Given the description of an element on the screen output the (x, y) to click on. 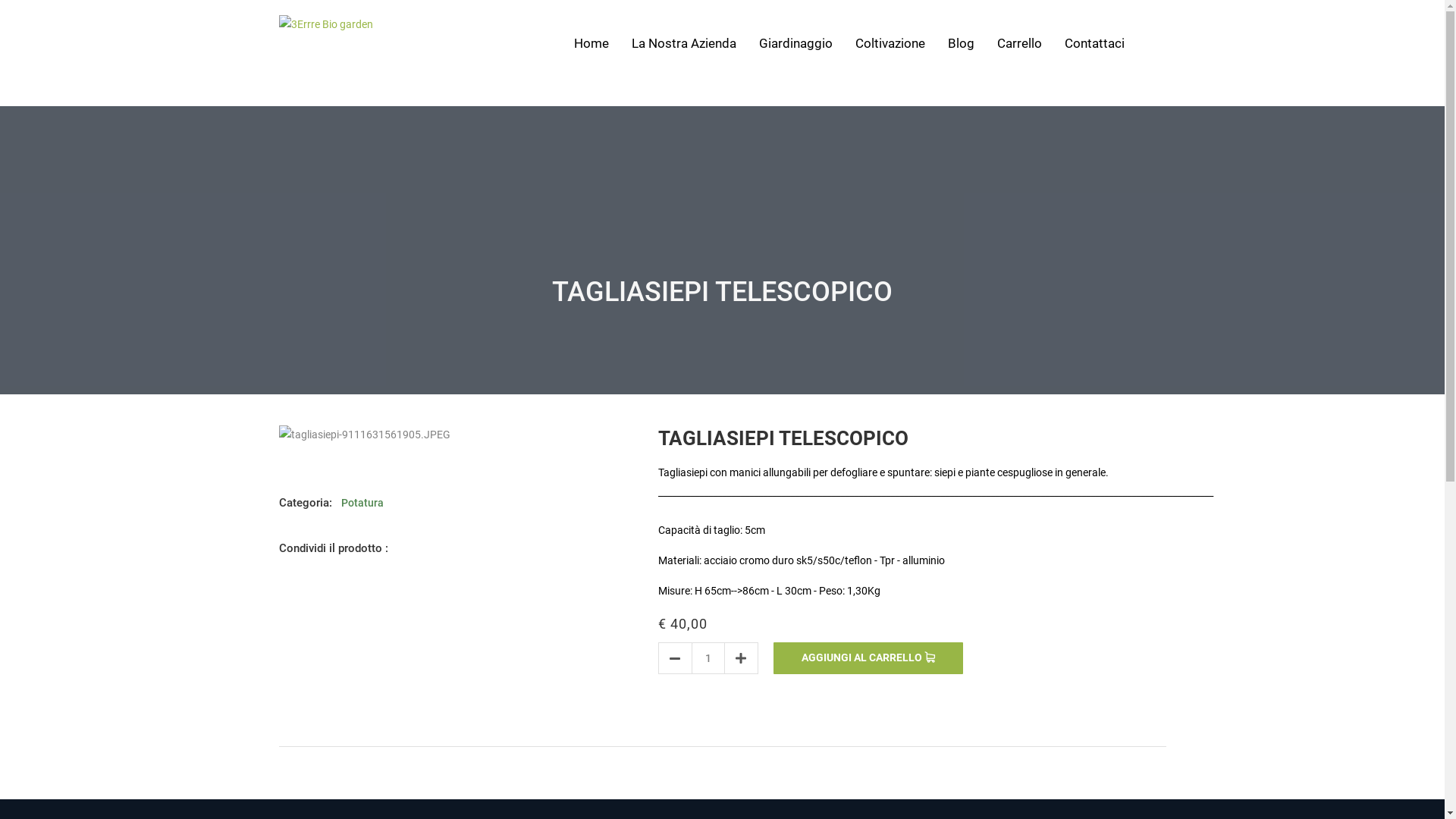
Potatura Element type: text (362, 502)
Carrello Element type: text (1018, 43)
Giardinaggio Element type: text (794, 43)
Coltivazione Element type: text (890, 43)
AGGIUNGI AL CARRELLO Element type: text (868, 658)
La Nostra Azienda Element type: text (682, 43)
Blog Element type: text (960, 43)
Contattaci Element type: text (1094, 43)
Home Element type: text (590, 43)
